Given the description of an element on the screen output the (x, y) to click on. 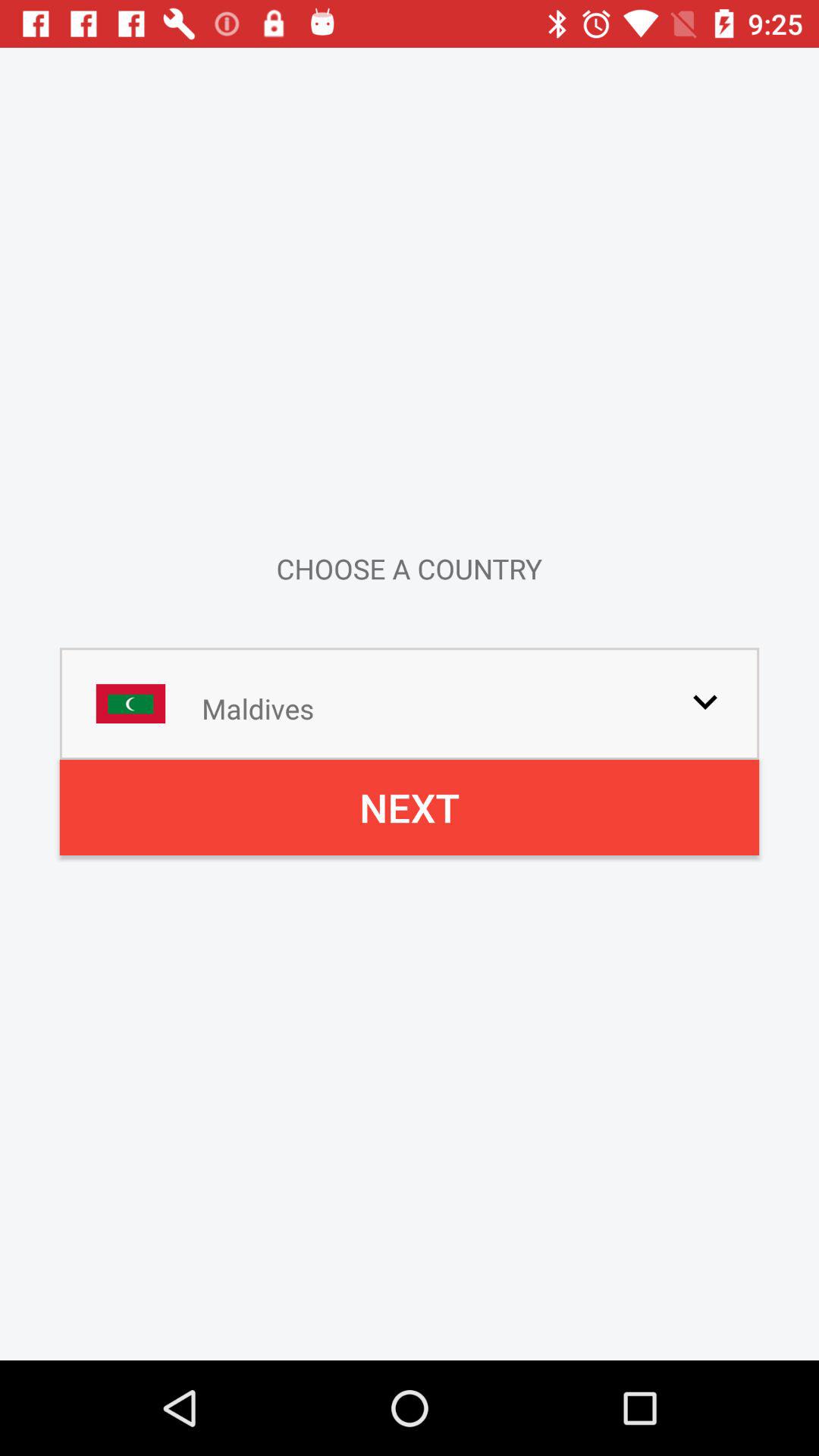
more (705, 701)
